Given the description of an element on the screen output the (x, y) to click on. 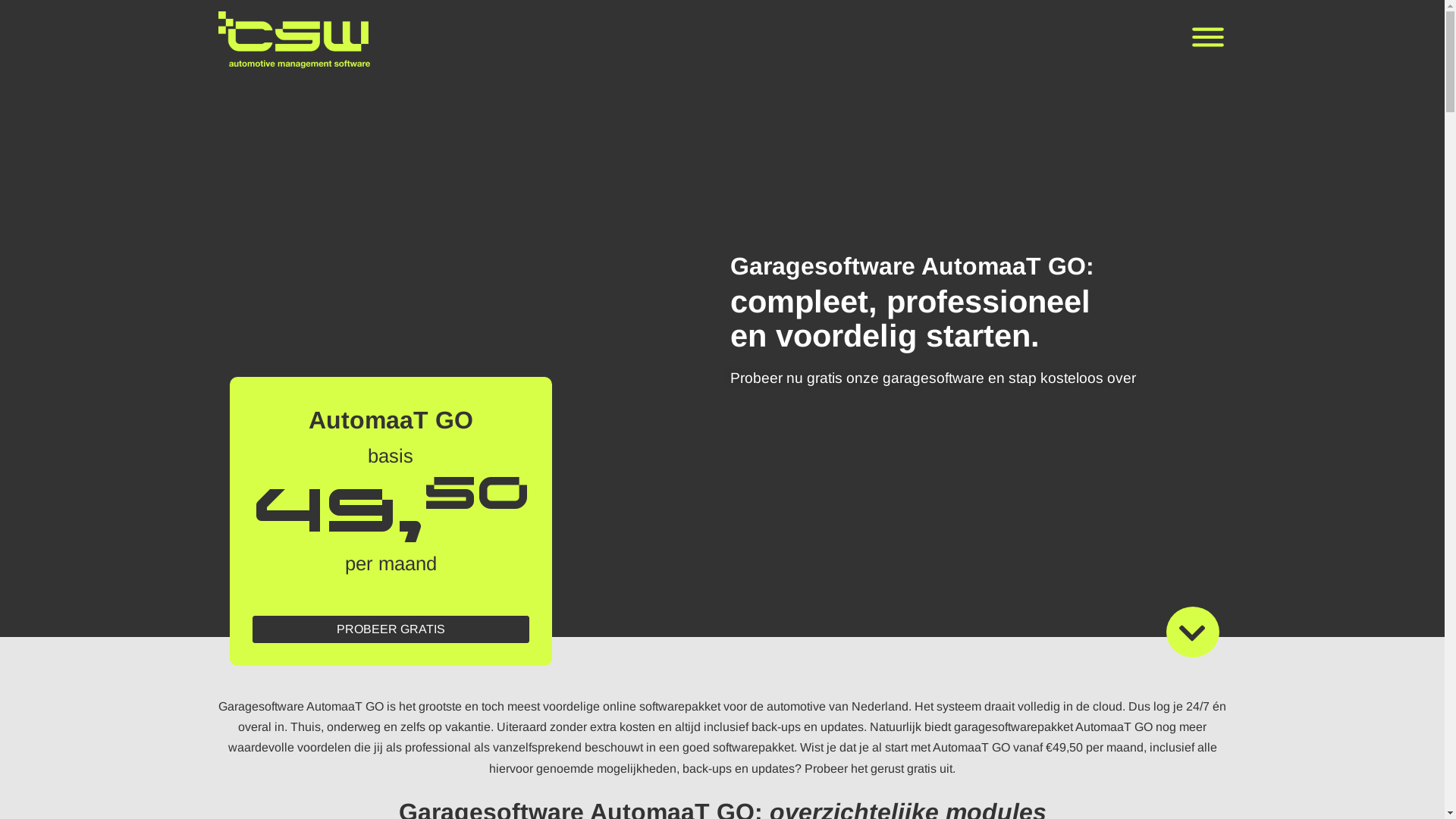
PROBEER GRATIS Element type: text (390, 629)
